Given the description of an element on the screen output the (x, y) to click on. 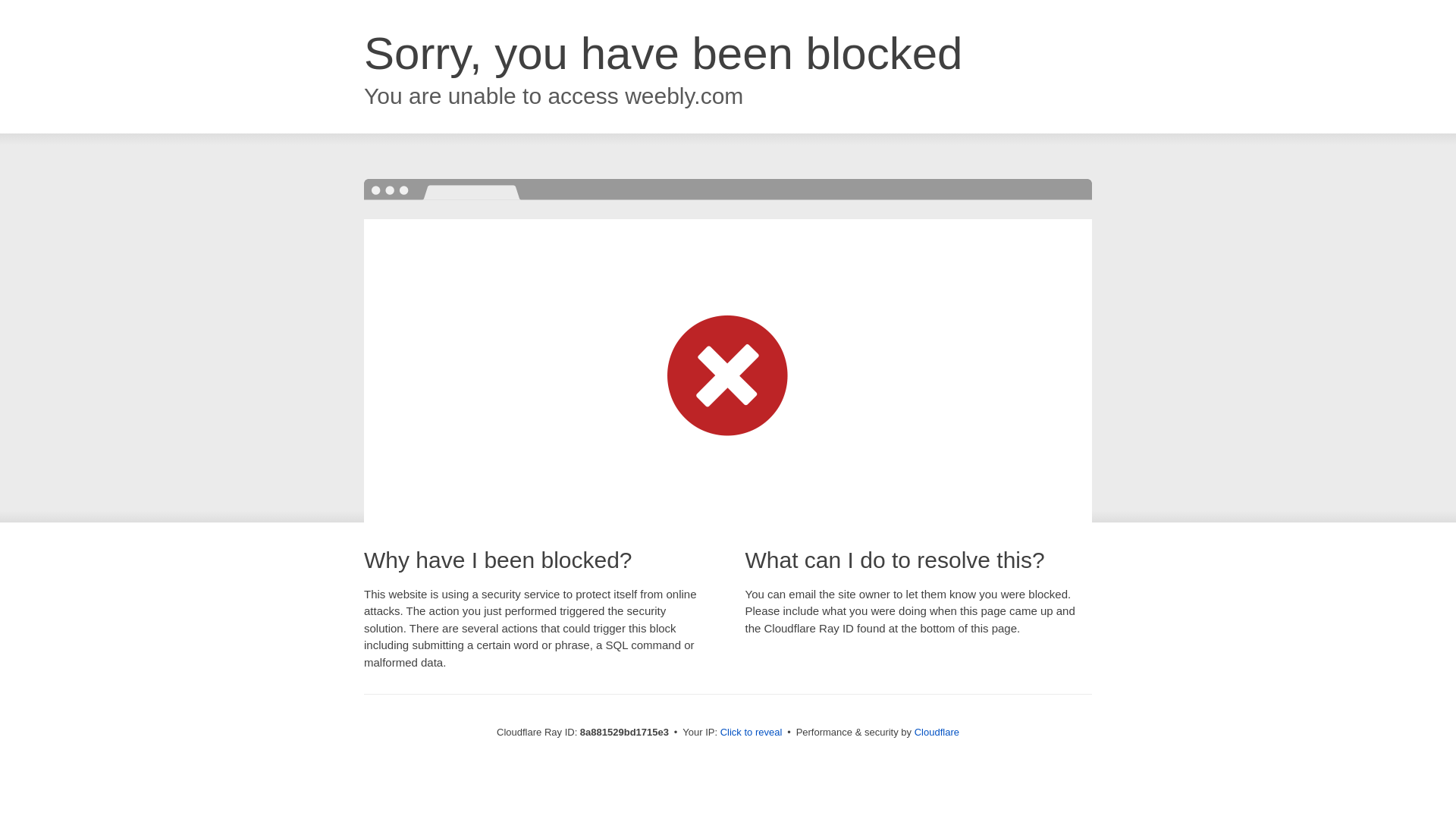
Click to reveal (751, 732)
Cloudflare (936, 731)
